Given the description of an element on the screen output the (x, y) to click on. 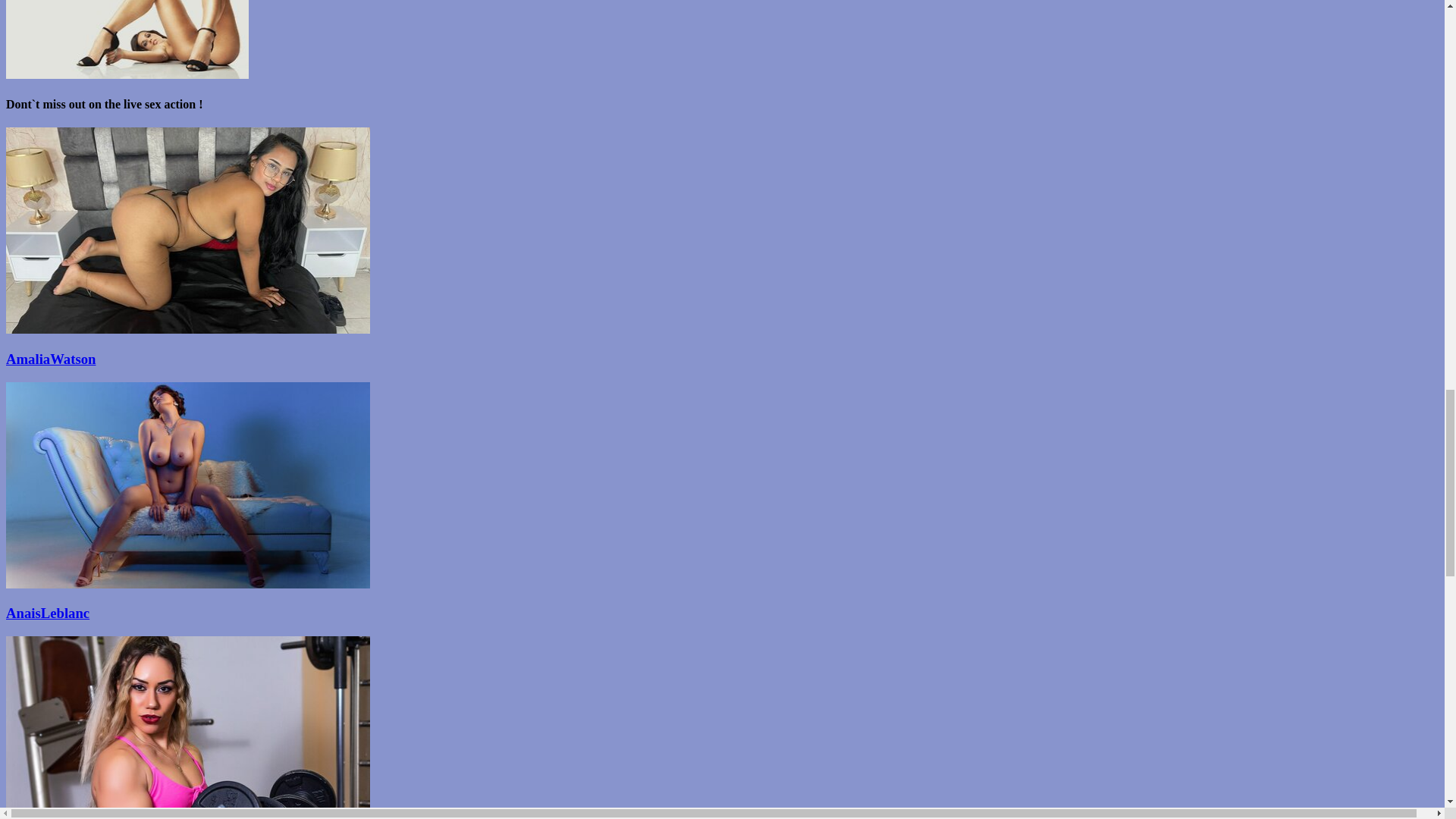
Recorded Nude Porn Live (721, 359)
AmaliaWatson (721, 359)
Recorded Nude Porn Live (187, 328)
Recorded Nude Porn Live (721, 613)
AnaisLeblanc (721, 613)
Recorded Nude Porn Live (187, 584)
